Given the description of an element on the screen output the (x, y) to click on. 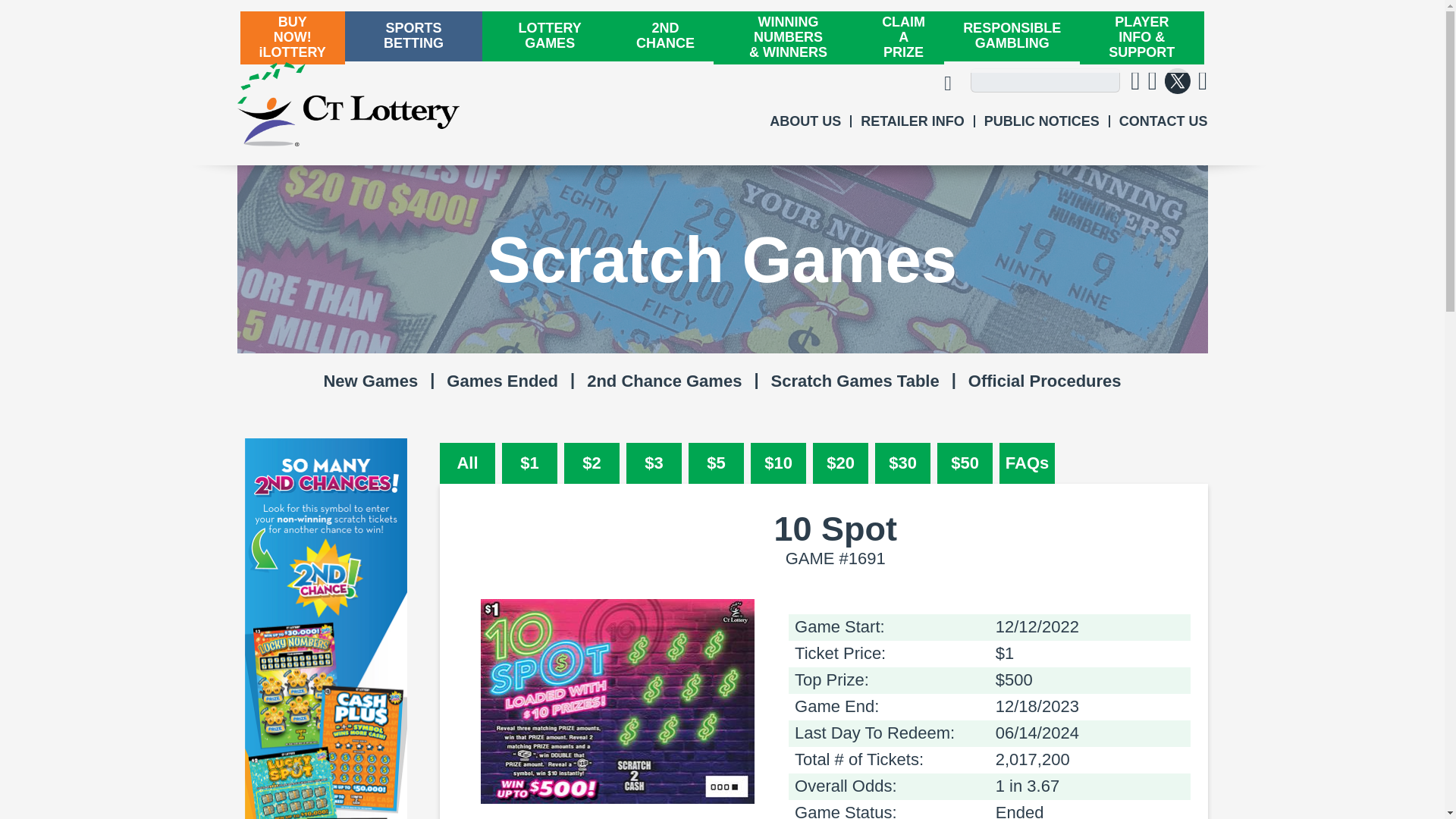
LOTTERY GAMES (549, 36)
Follow us on Twitter (1177, 82)
RETAILER INFO (911, 120)
Watch us on YouTube (1202, 82)
Watch us on YouTube (1202, 82)
PUBLIC NOTICES (1041, 120)
SPORTS BETTING (413, 36)
Like us on Facebook (1163, 120)
Follow us on Twitter (1152, 82)
Buy iLottery now (1177, 82)
View Connecticut Lottery Games (291, 37)
Open Sports Betting Menu (805, 120)
